Given the description of an element on the screen output the (x, y) to click on. 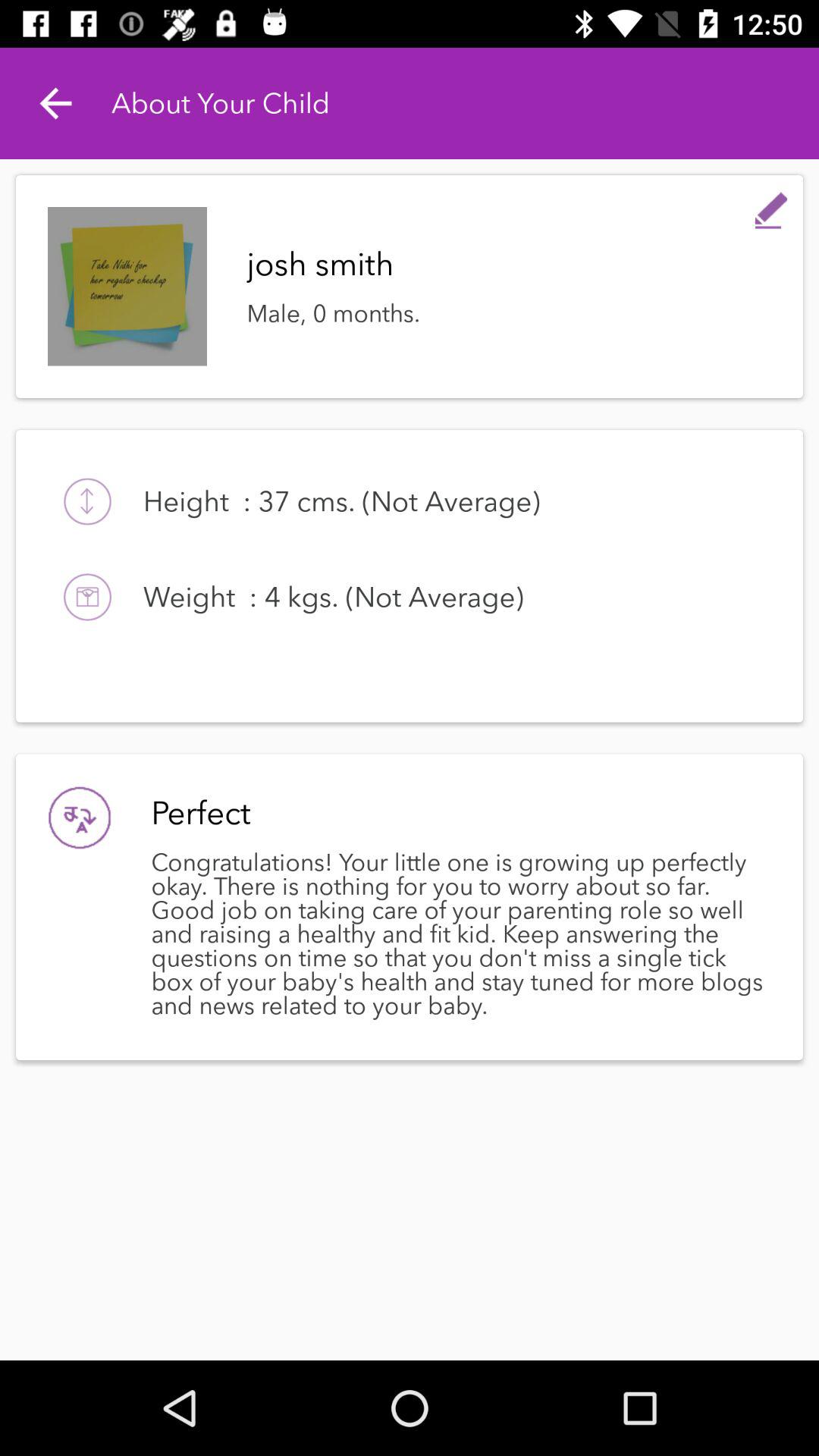
open item above josh smith (771, 206)
